Given the description of an element on the screen output the (x, y) to click on. 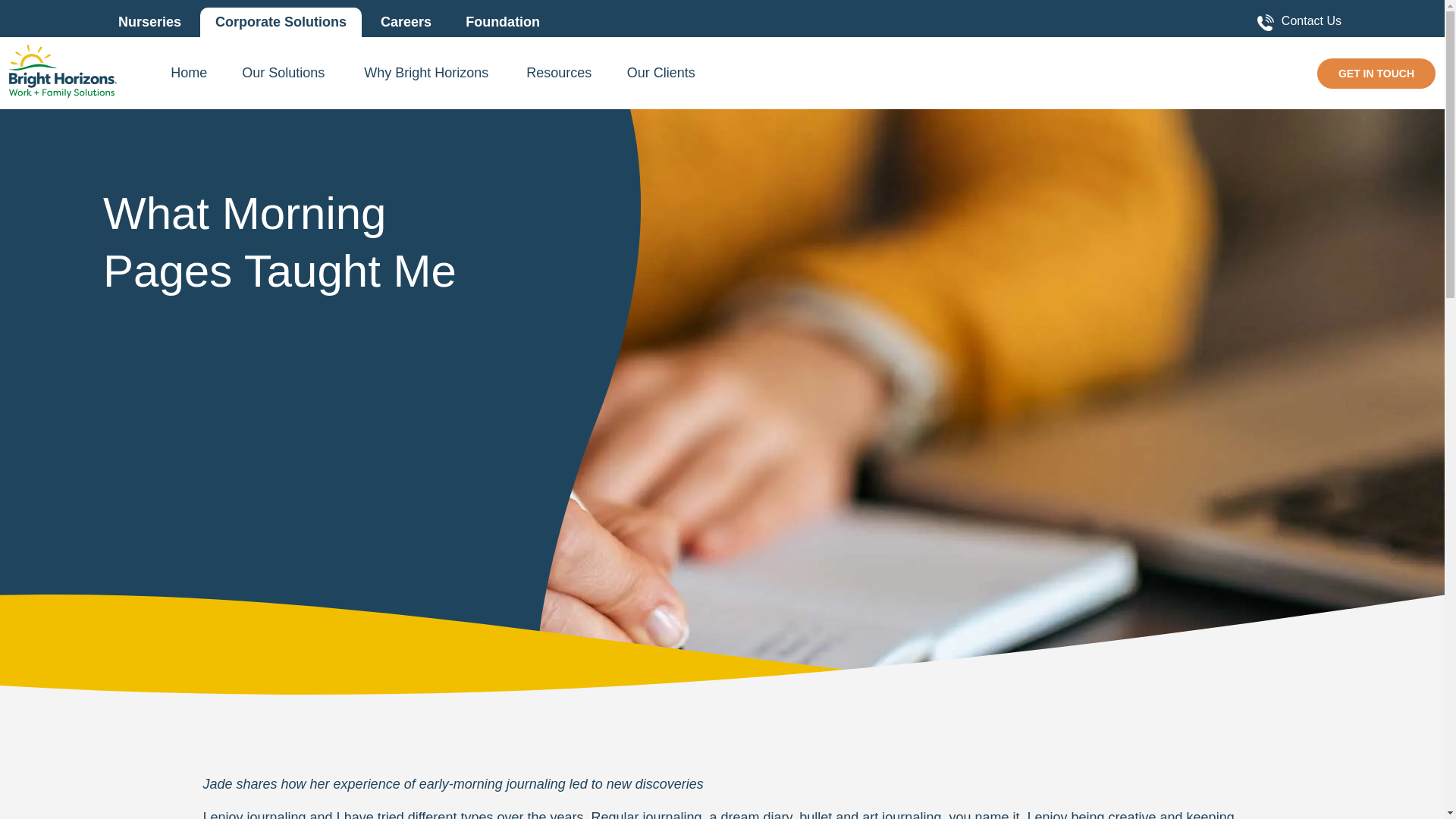
Foundation (501, 21)
Our Clients (660, 78)
Careers (405, 21)
Corporate Solutions (280, 21)
Home (188, 78)
Nurseries (149, 21)
GET IN TOUCH (1376, 73)
Why Bright Horizons (425, 78)
Resources (558, 78)
Contact Us (1298, 22)
